Given the description of an element on the screen output the (x, y) to click on. 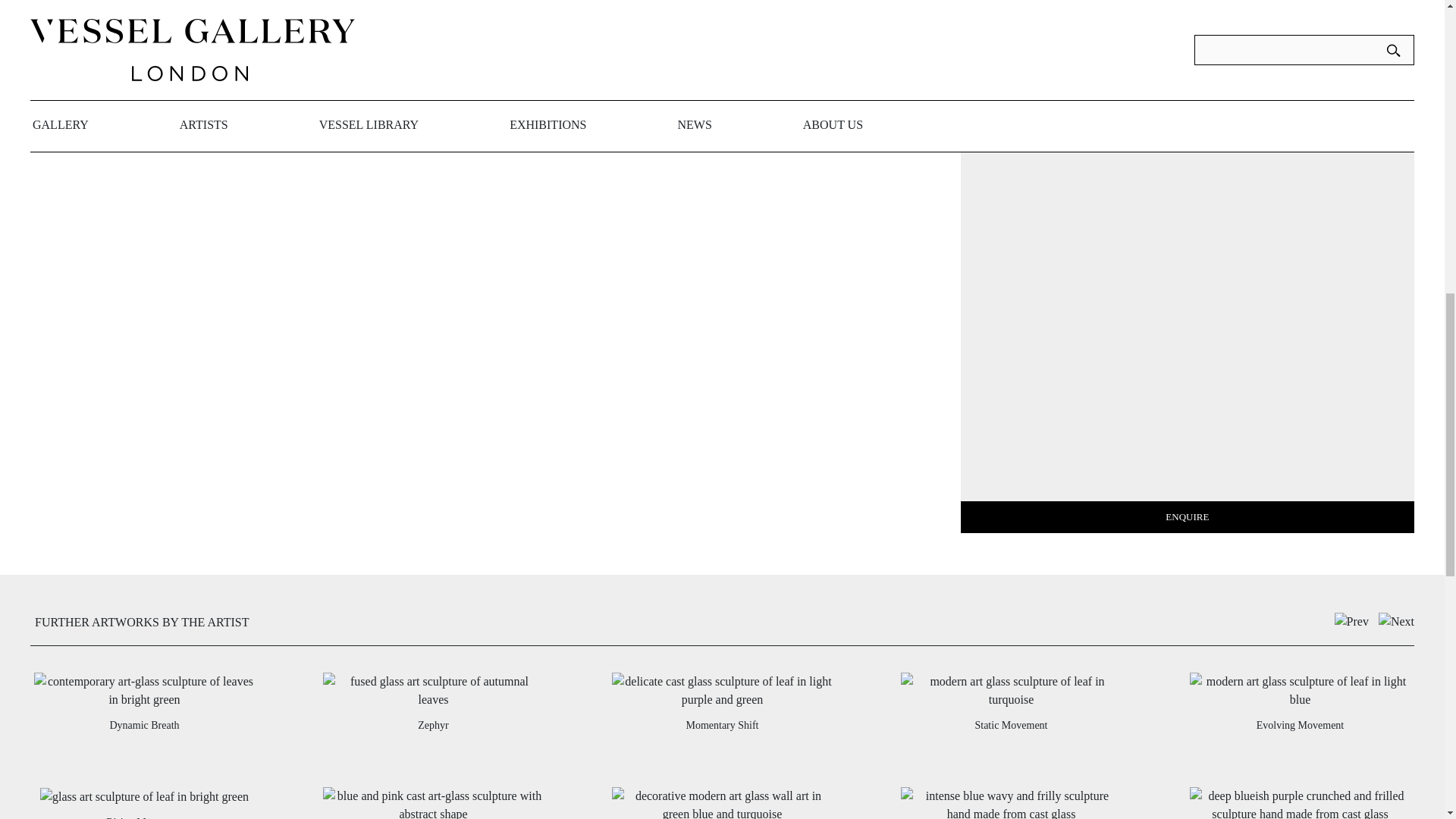
Zephyr (432, 725)
Static Movement (1010, 725)
Momentary Shift (721, 725)
Rising Movement (144, 816)
ENQUIRE (1186, 517)
Dynamic Breath (144, 725)
Evolving Movement (1299, 725)
